Given the description of an element on the screen output the (x, y) to click on. 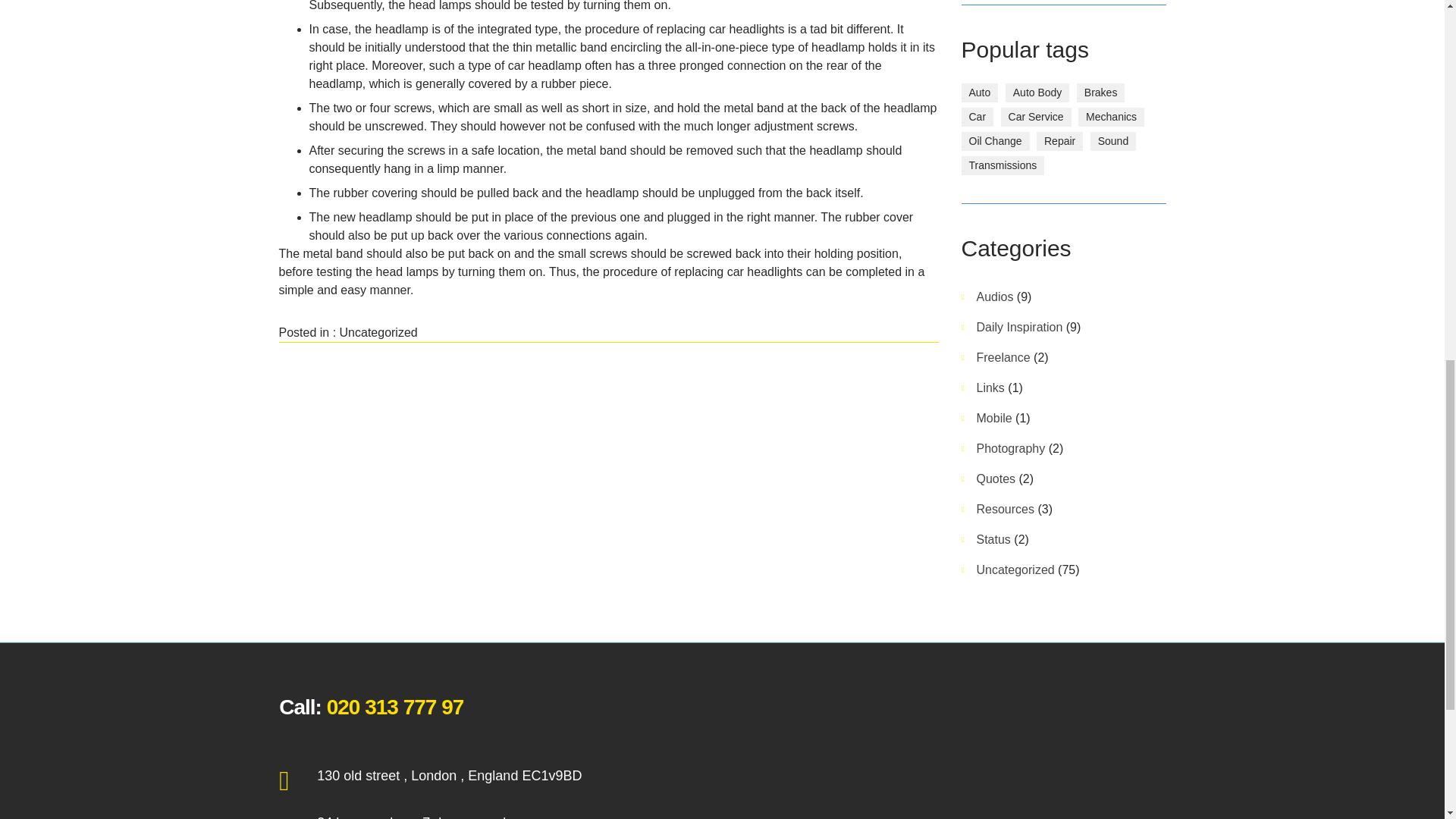
Car (977, 116)
Mechanics (1111, 116)
Brakes (1101, 92)
Uncategorized (378, 332)
Auto Body (1038, 92)
Car Service (1036, 116)
Auto (979, 92)
